Given the description of an element on the screen output the (x, y) to click on. 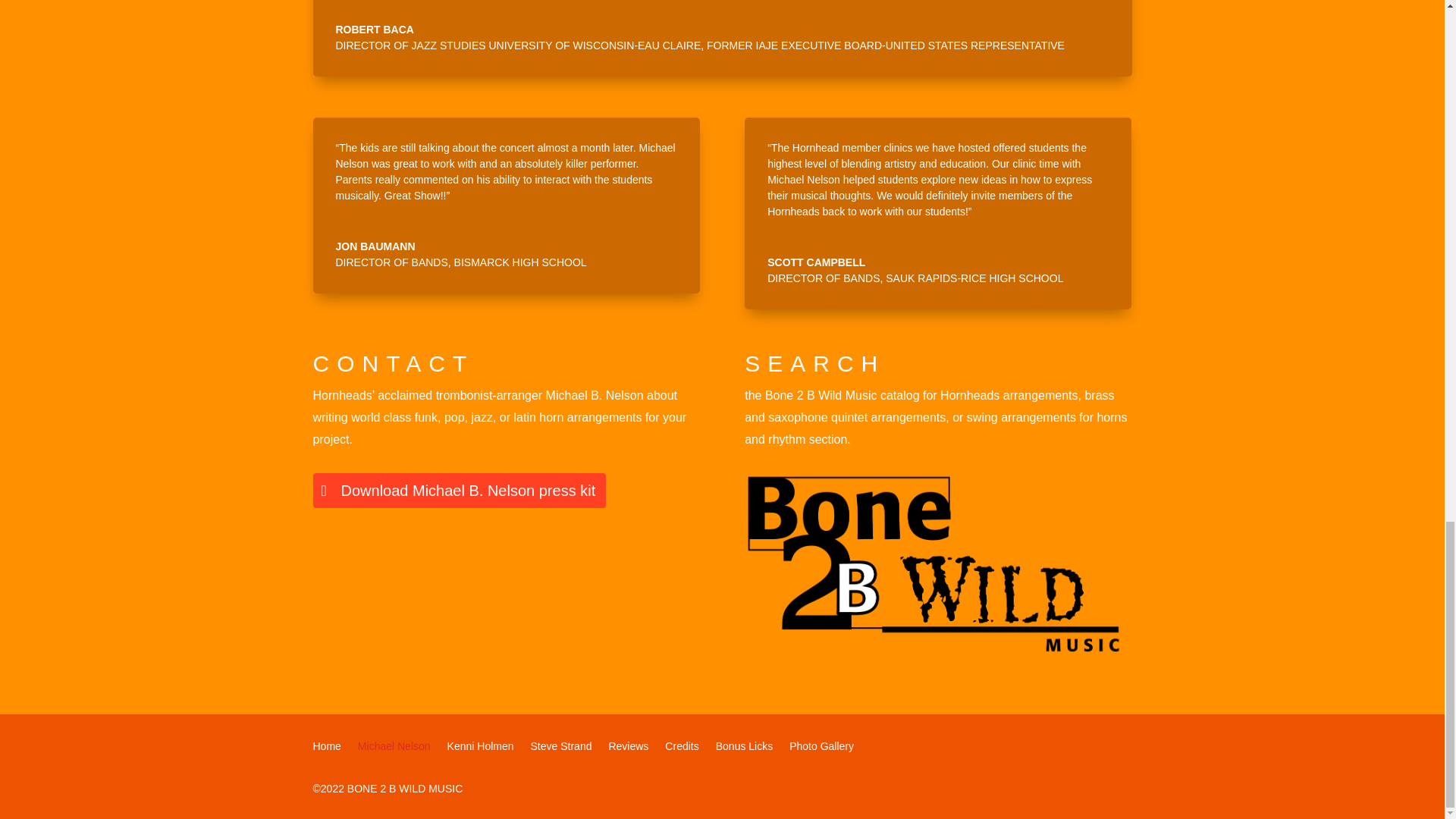
Kenni Holmen (479, 749)
Home (326, 749)
Credits (681, 749)
Download Michael B. Nelson press kit (459, 490)
Reviews (627, 749)
Steve Strand (561, 749)
Michael Nelson (394, 749)
BONE-logo (937, 562)
